Given the description of an element on the screen output the (x, y) to click on. 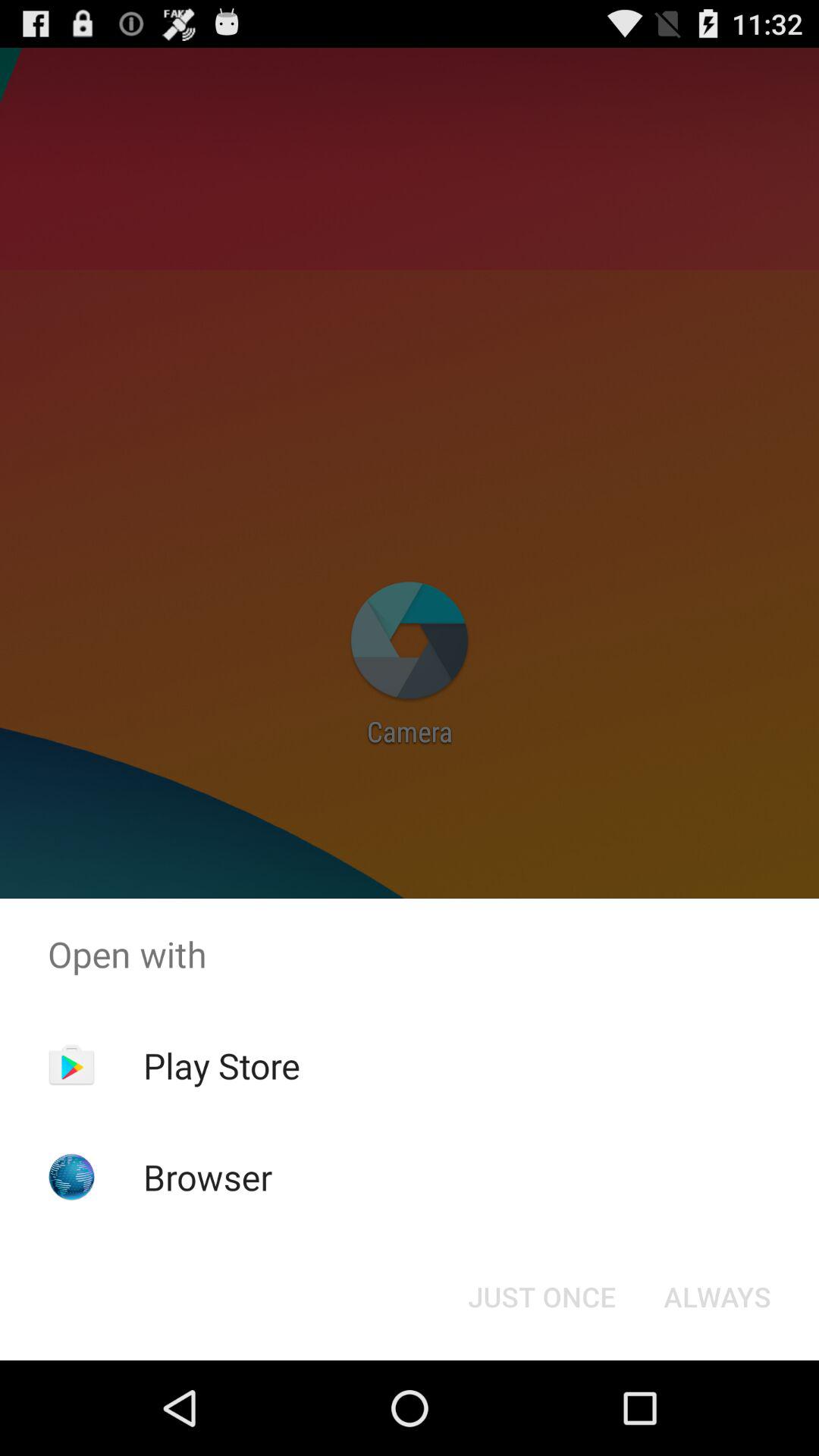
select just once button (541, 1296)
